Given the description of an element on the screen output the (x, y) to click on. 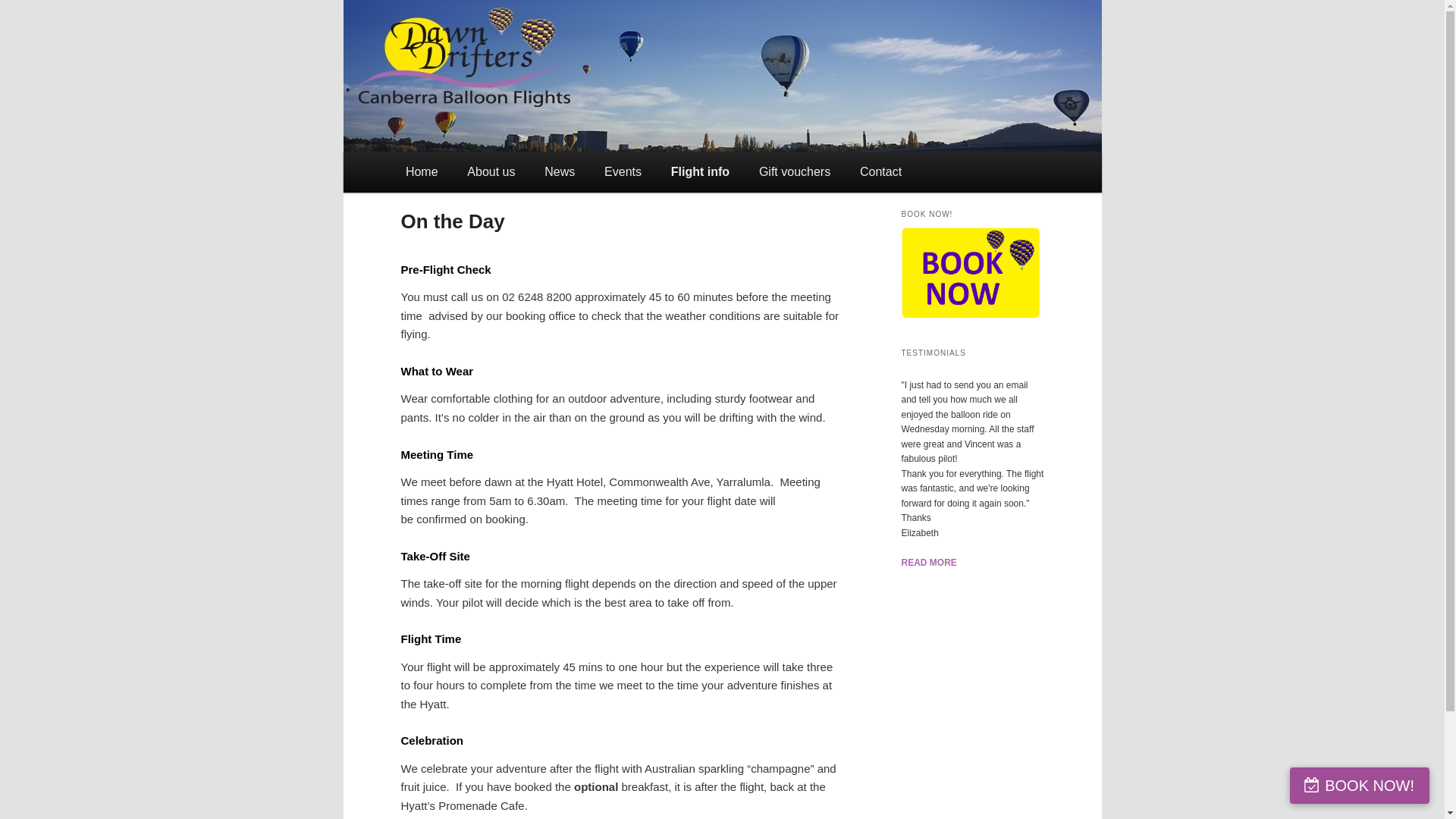
Balloon Flight Bookings Element type: hover (969, 272)
News Element type: text (559, 171)
Skip to secondary content Element type: text (479, 170)
READ MORE Element type: text (928, 562)
Contact Element type: text (880, 171)
About us Element type: text (491, 171)
Home Element type: text (421, 171)
Skip to primary content Element type: text (472, 170)
BOOK NOW! Element type: text (1359, 785)
Gift vouchers Element type: text (794, 171)
Flight info Element type: text (699, 171)
Events Element type: text (622, 171)
